Given the description of an element on the screen output the (x, y) to click on. 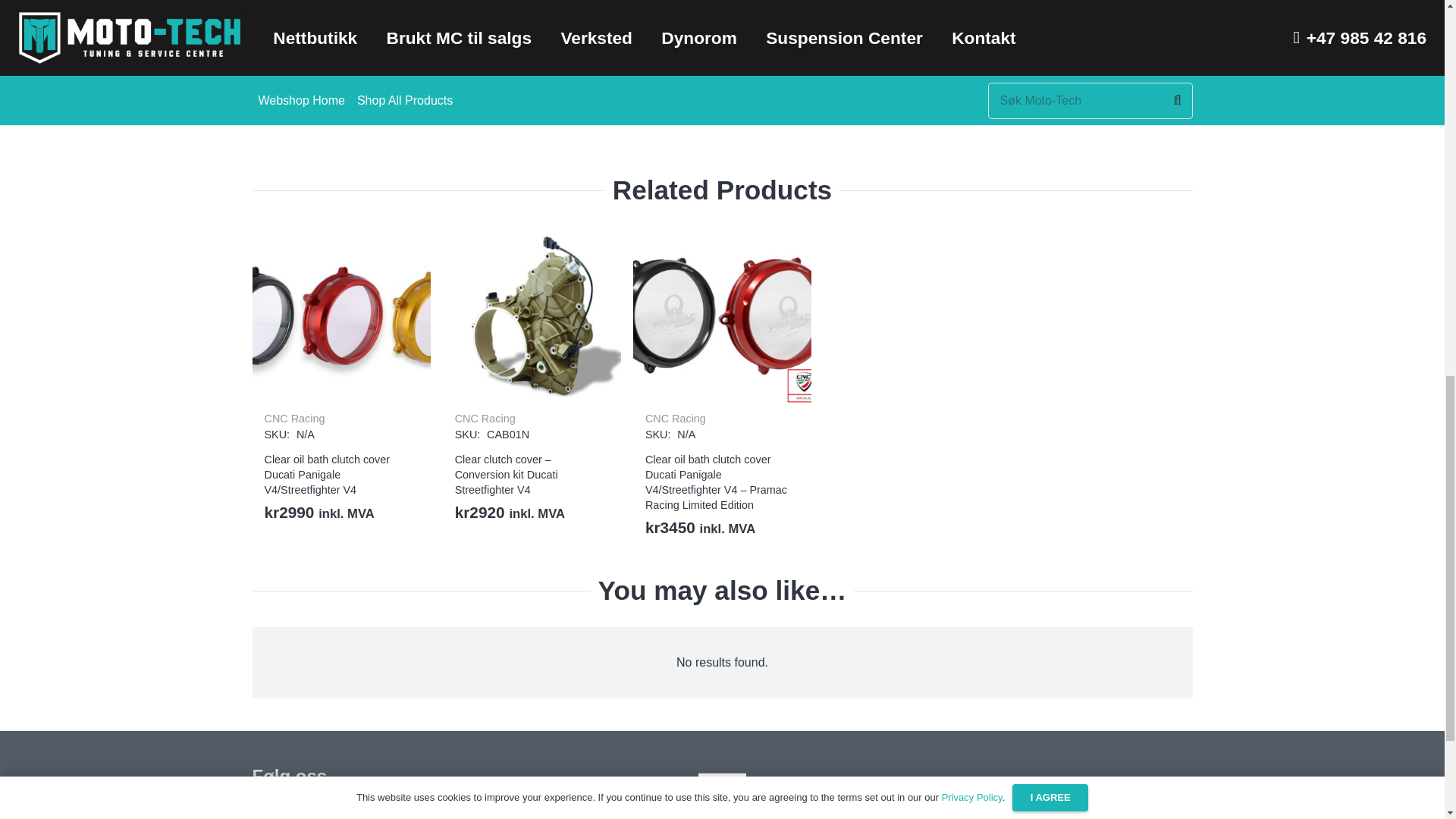
Facebook (311, 811)
Instagram (270, 811)
Back to top (30, 26)
Motorcycle Fitting (965, 80)
Delivery (965, 37)
Attributes (965, 7)
